Given the description of an element on the screen output the (x, y) to click on. 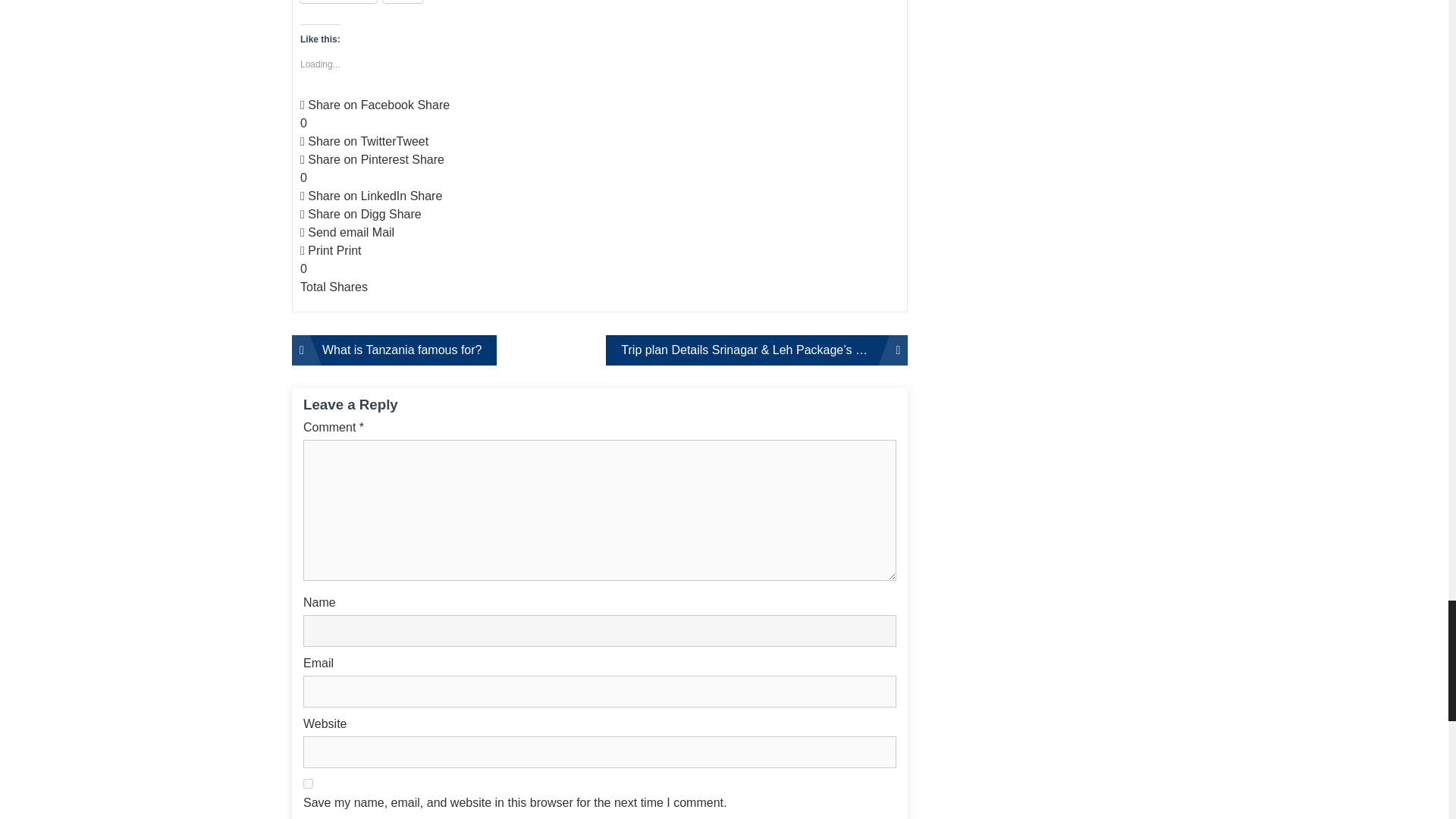
yes (307, 783)
